Given the description of an element on the screen output the (x, y) to click on. 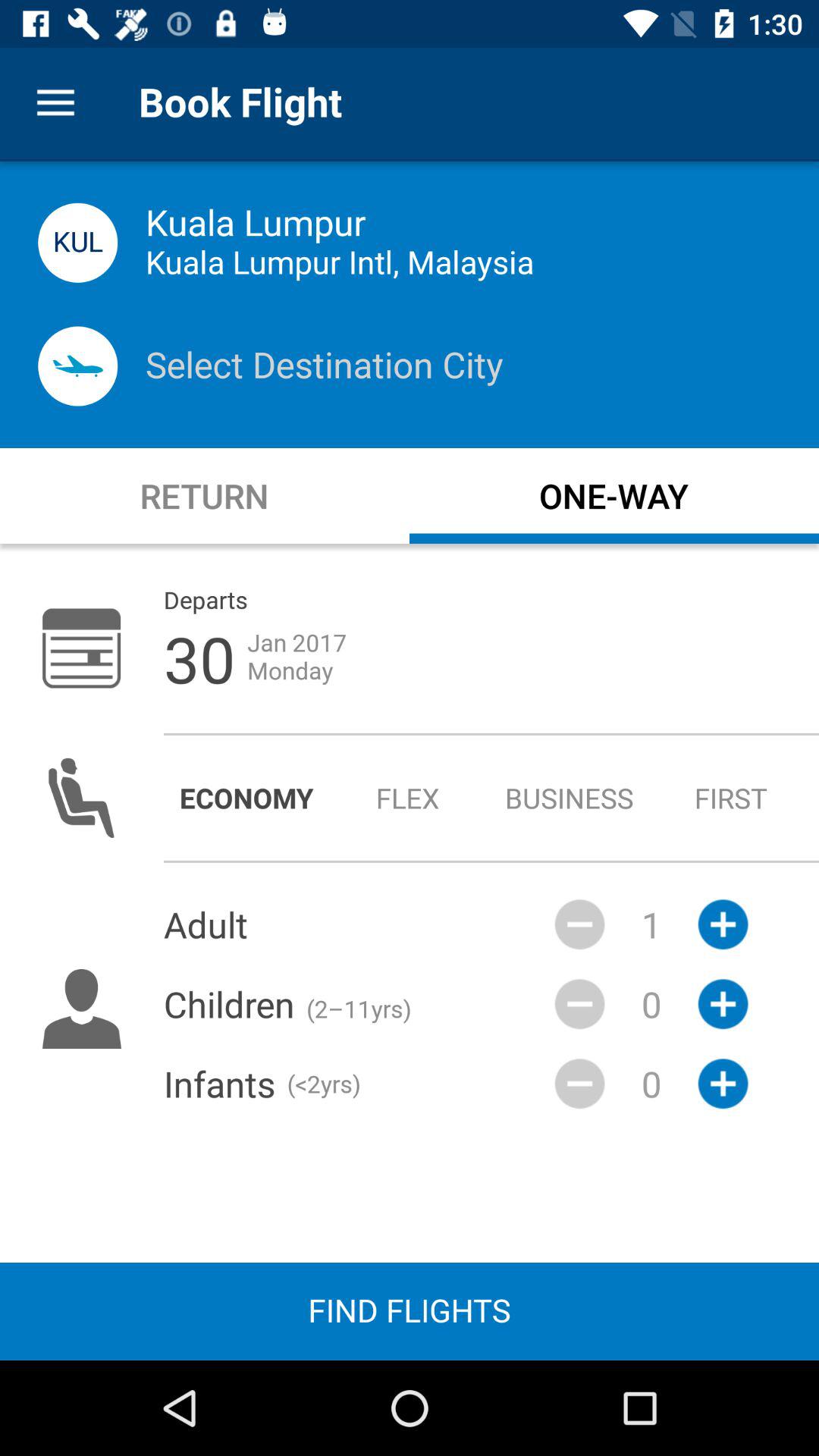
scroll to the business item (569, 797)
